Given the description of an element on the screen output the (x, y) to click on. 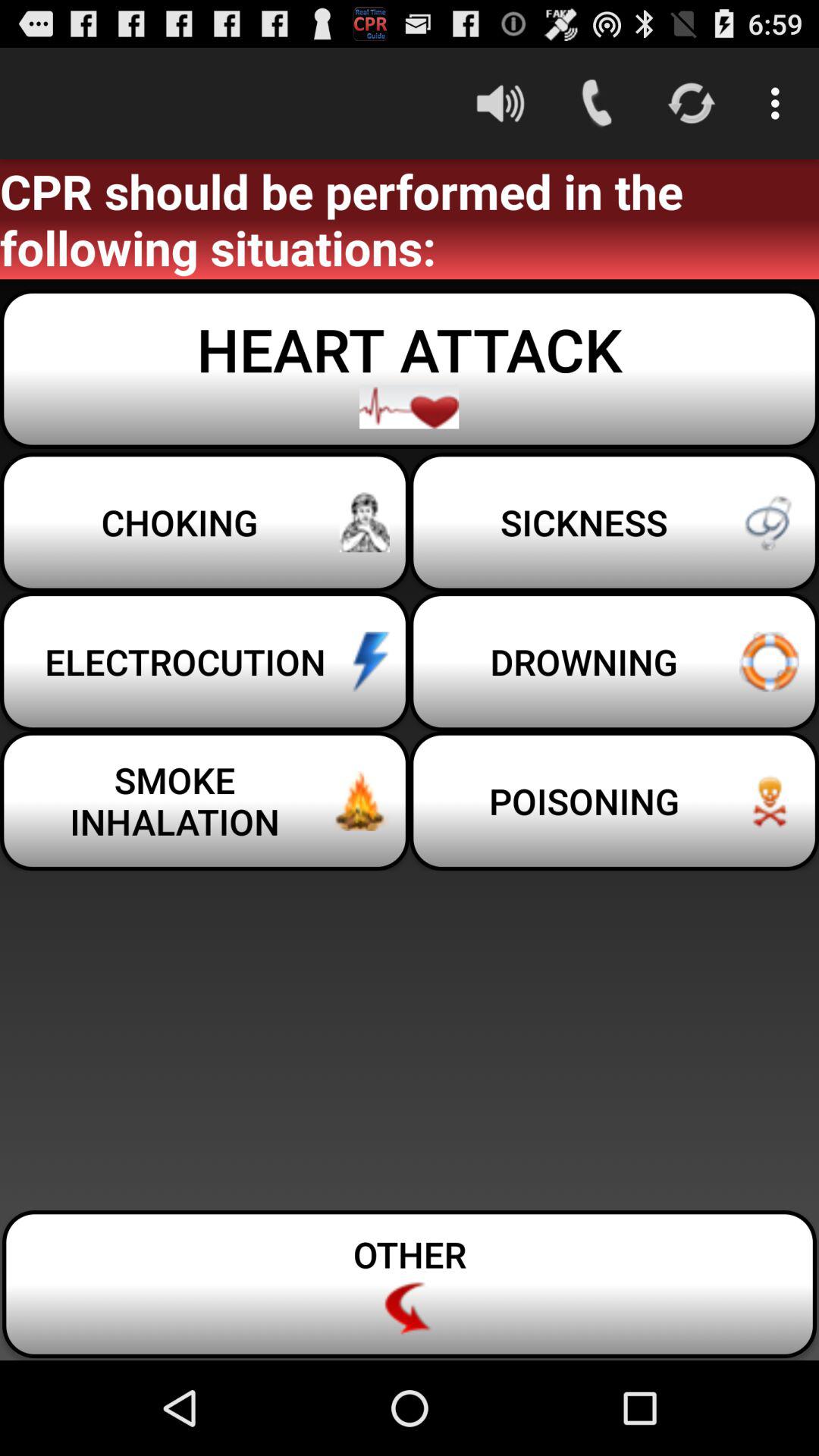
click icon above the electrocution icon (614, 522)
